Given the description of an element on the screen output the (x, y) to click on. 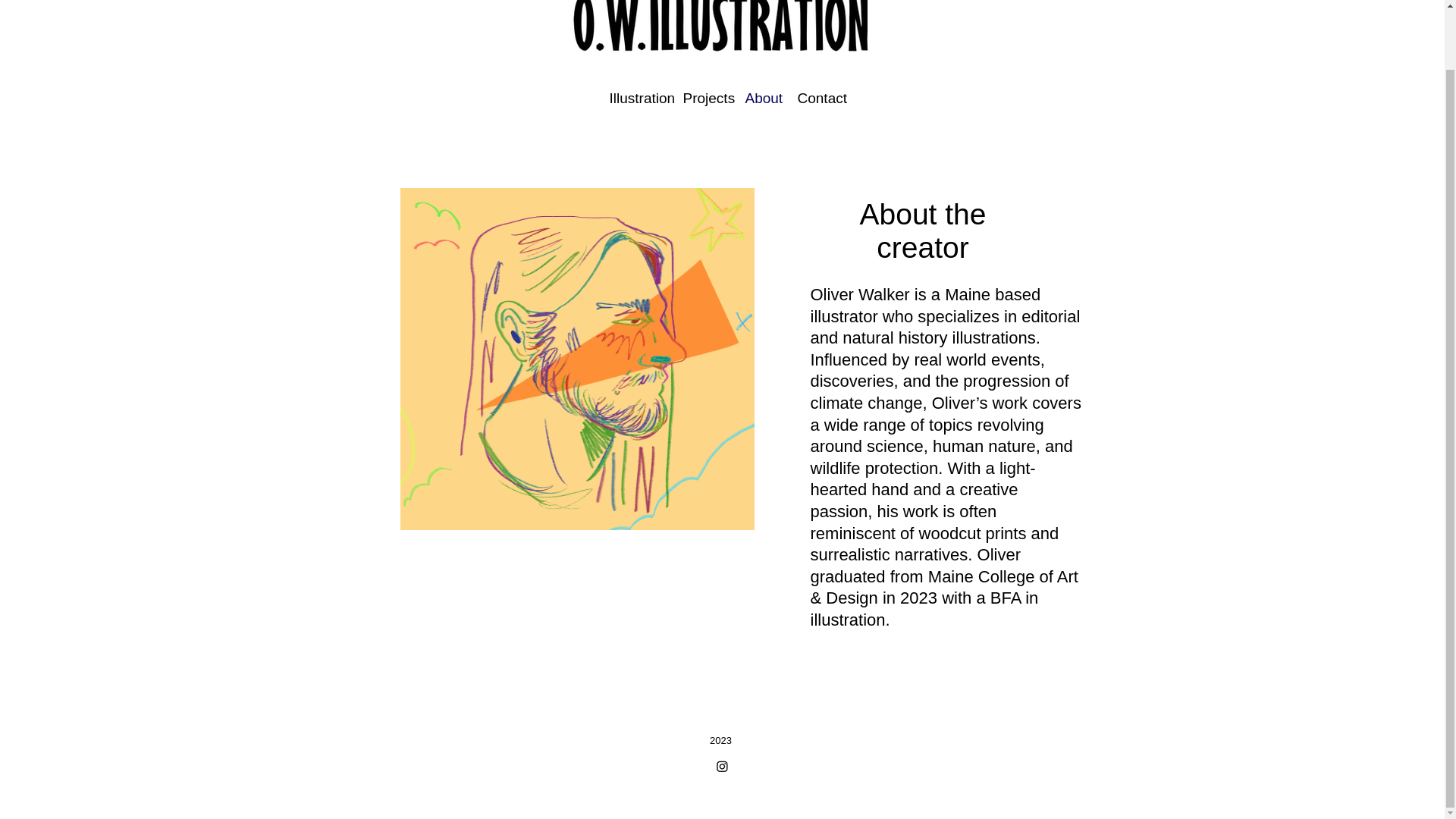
Projects (702, 98)
Illustration (633, 98)
About (759, 98)
Contact (815, 98)
